Given the description of an element on the screen output the (x, y) to click on. 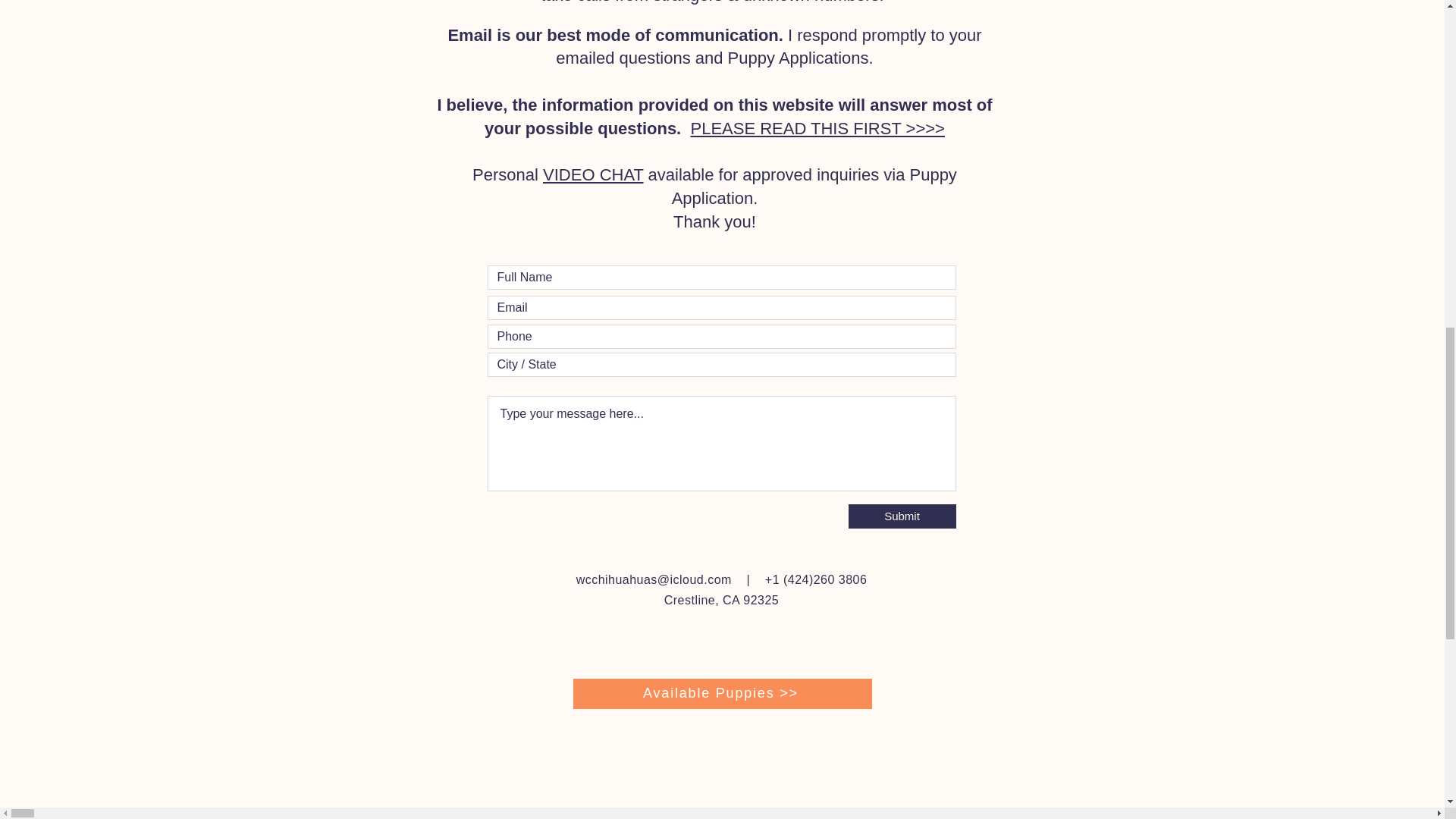
VIDEO CHAT (593, 174)
Submit (901, 516)
